Given the description of an element on the screen output the (x, y) to click on. 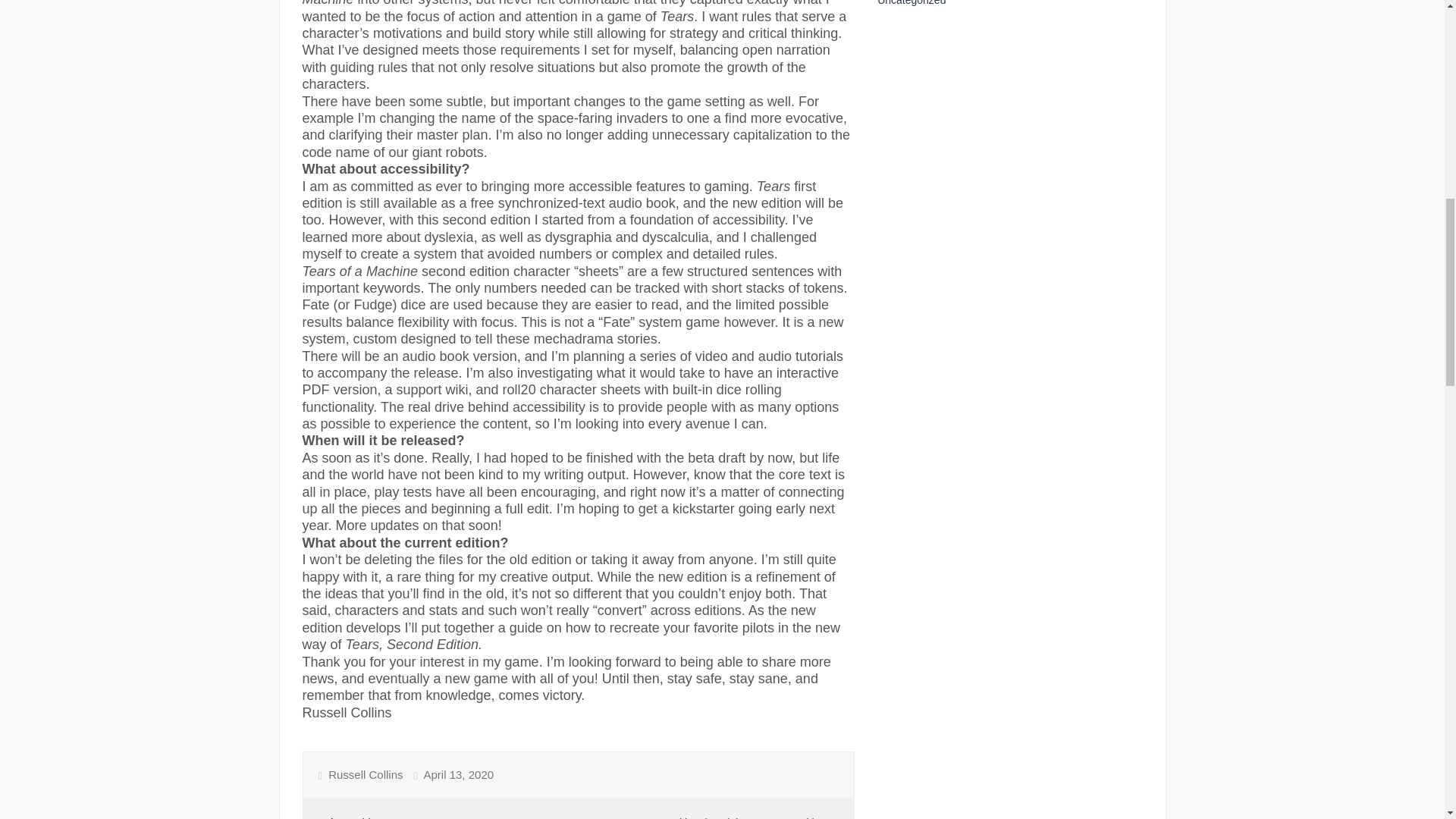
Making the Right Statement with Art (750, 817)
Afterworlds (349, 817)
Uncategorized (910, 2)
